Given the description of an element on the screen output the (x, y) to click on. 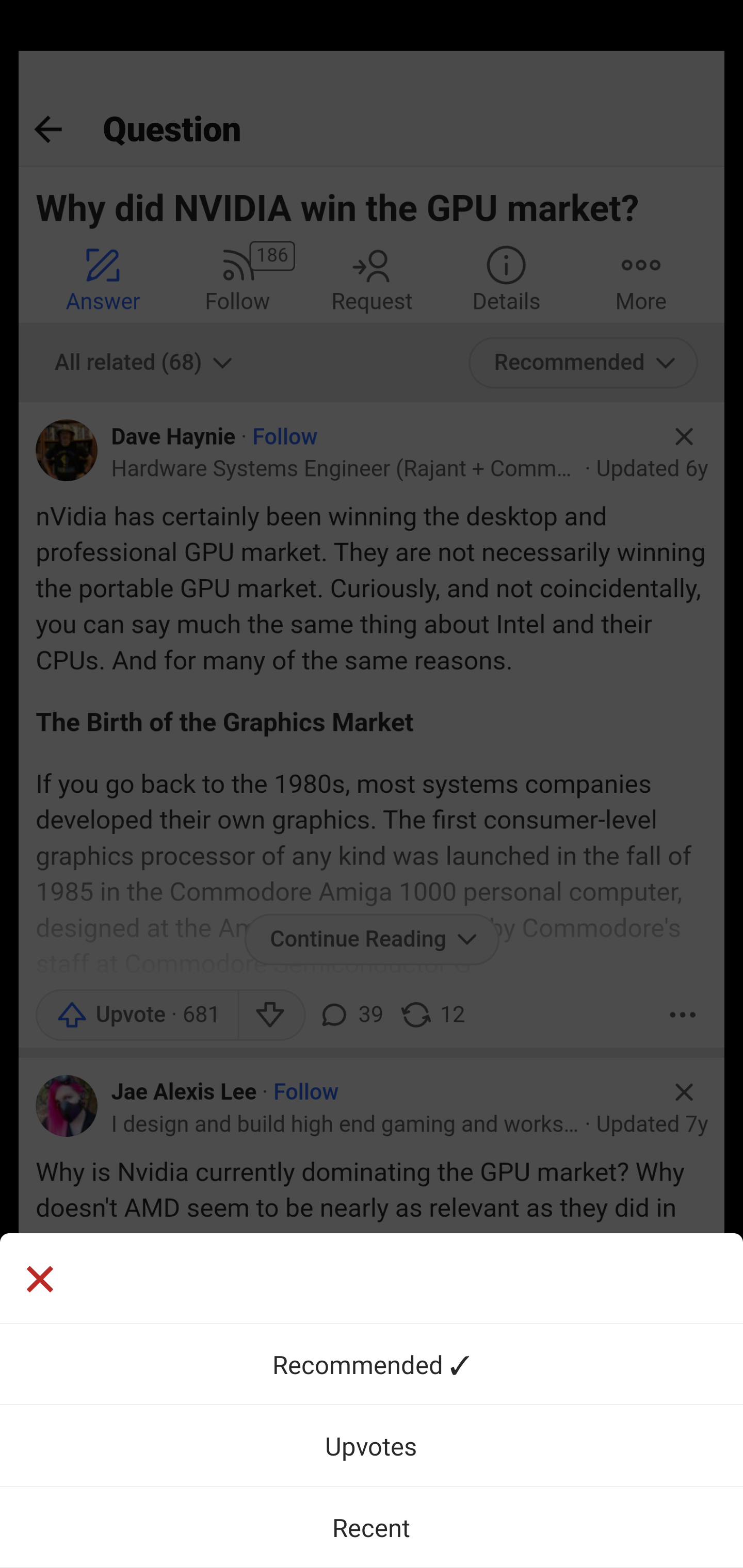
 (39, 1280)
Recommended ✓ (371, 1363)
Upvotes (371, 1445)
Recent (371, 1527)
